Given the description of an element on the screen output the (x, y) to click on. 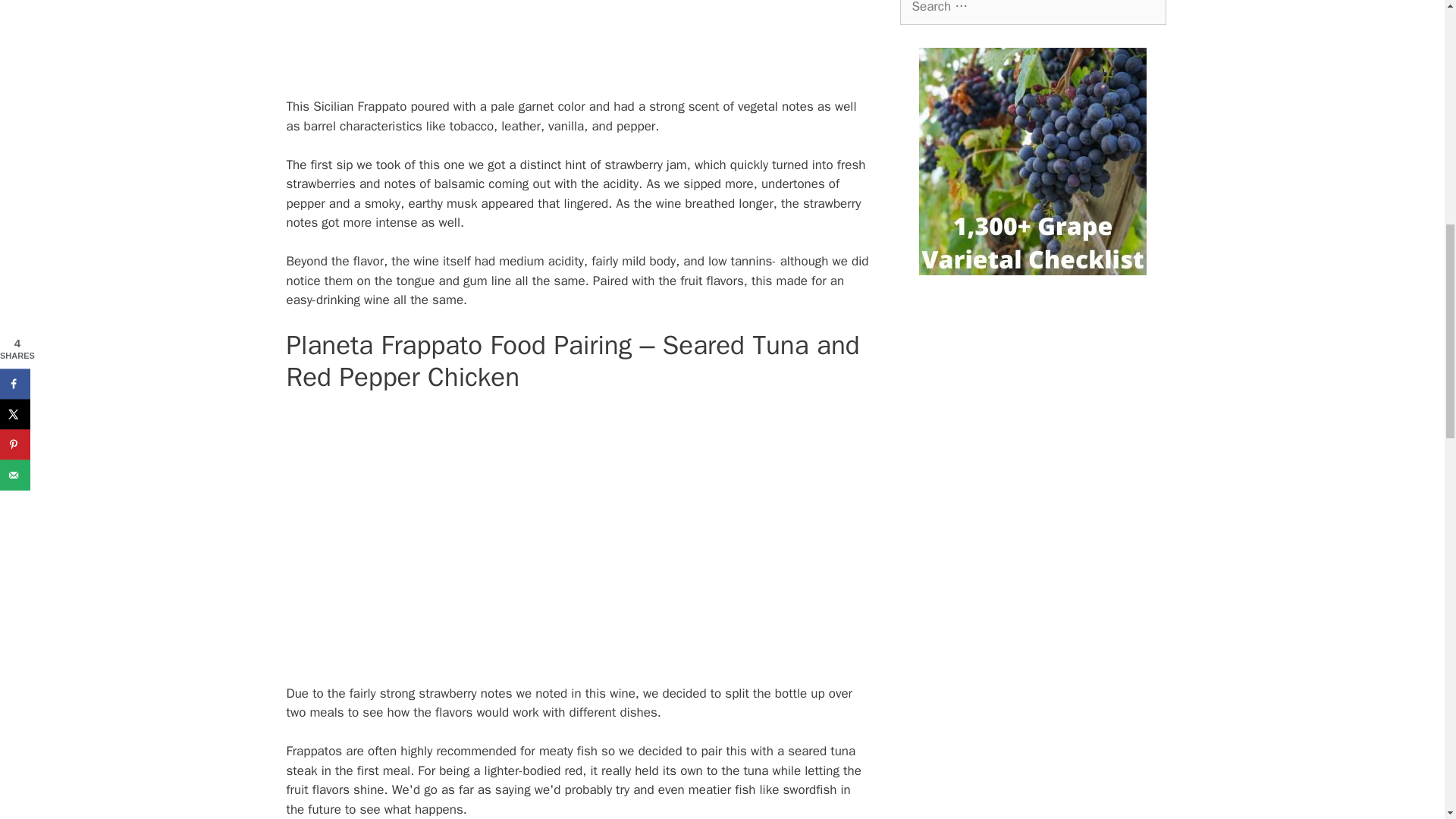
Frappato with a Tuna Steak (577, 535)
Frappato from Sicily (577, 38)
Search for: (1032, 12)
